Given the description of an element on the screen output the (x, y) to click on. 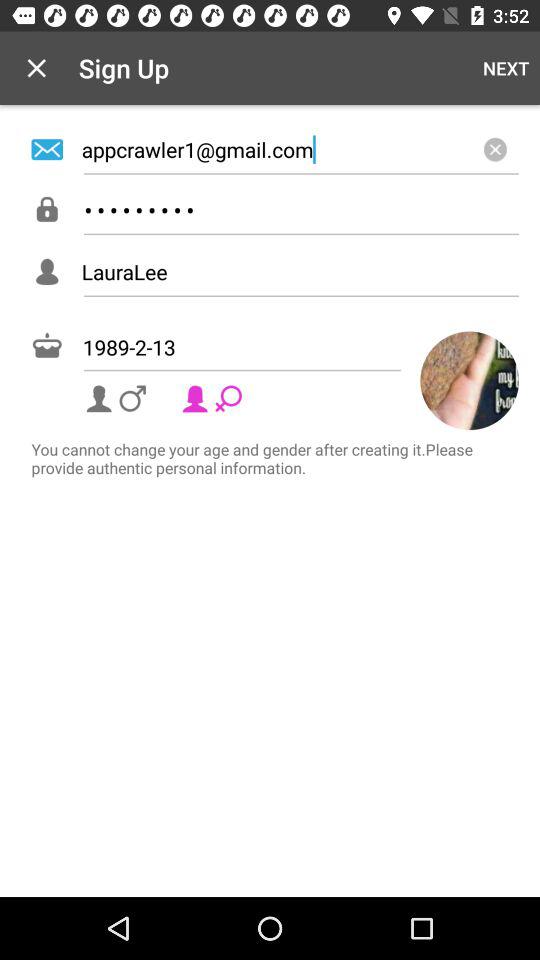
choose next icon (506, 67)
